Given the description of an element on the screen output the (x, y) to click on. 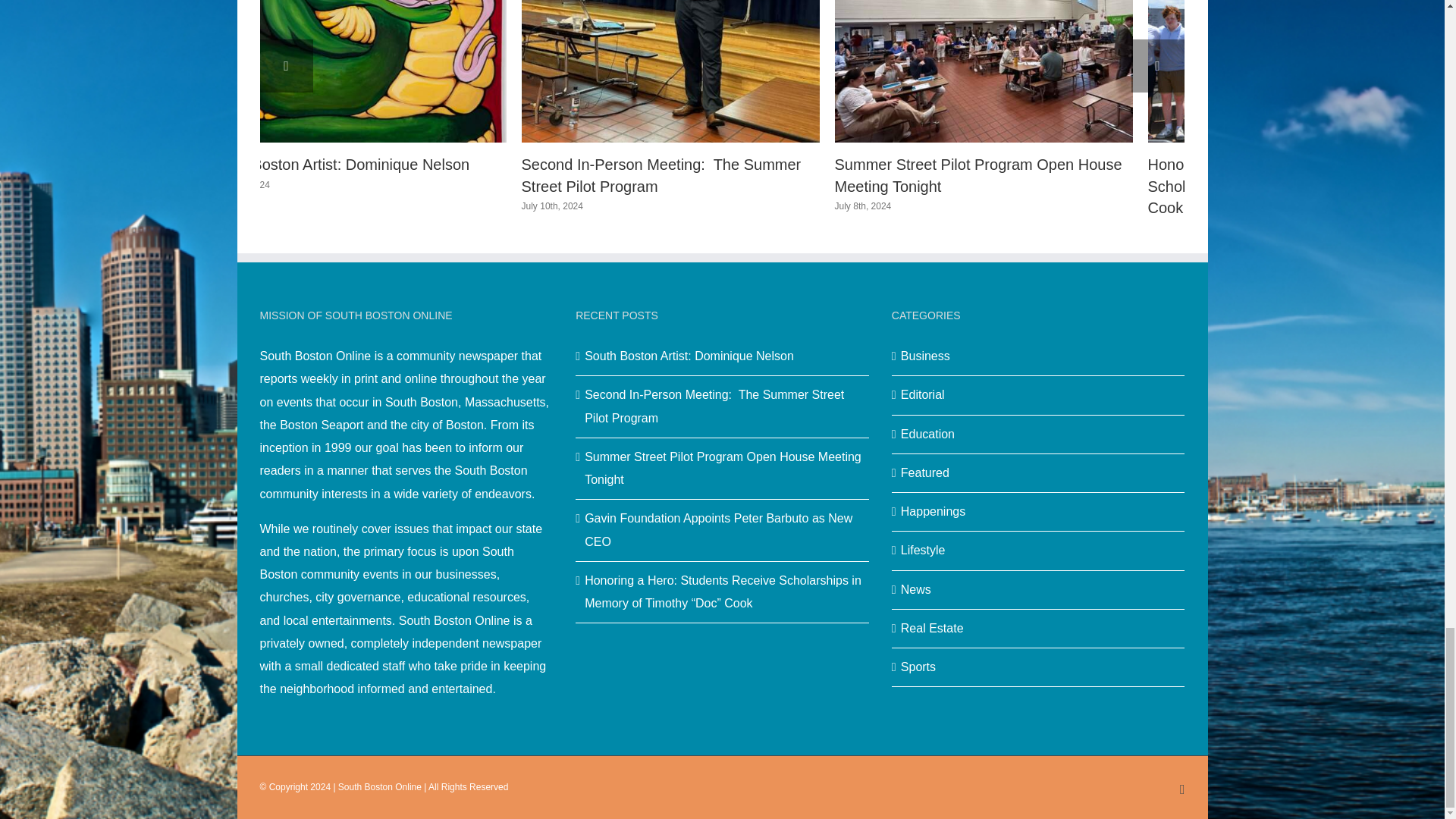
South Boston Artist: Dominique Nelson (339, 164)
Summer Street Pilot Program Open House Meeting Tonight (978, 175)
